Given the description of an element on the screen output the (x, y) to click on. 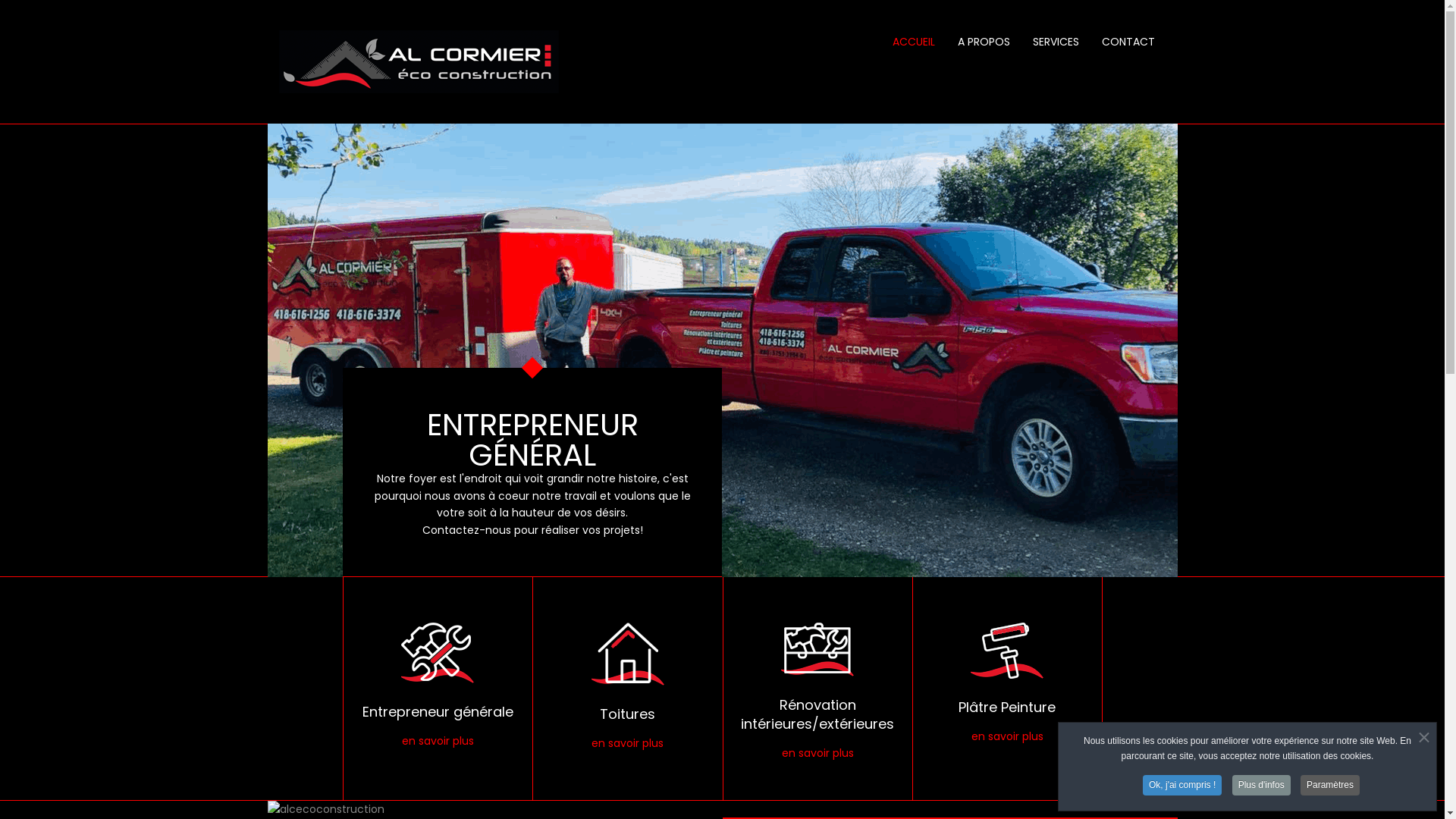
Autoriser tous les cookies Element type: text (567, 542)
A PROPOS Element type: text (983, 41)
en savoir plus Element type: text (437, 740)
en savoir plus Element type: text (1007, 735)
en savoir plus Element type: text (627, 742)
Ok, j'ai compris ! Element type: text (1181, 785)
CONTACT Element type: text (1128, 41)
ACCUEIL Element type: text (913, 41)
SERVICES Element type: text (1054, 41)
Plus d'infos Element type: text (1261, 785)
1 Element type: text (686, 323)
Refuser tous les cookies Element type: text (727, 542)
en savoir plus Element type: text (817, 752)
